Given the description of an element on the screen output the (x, y) to click on. 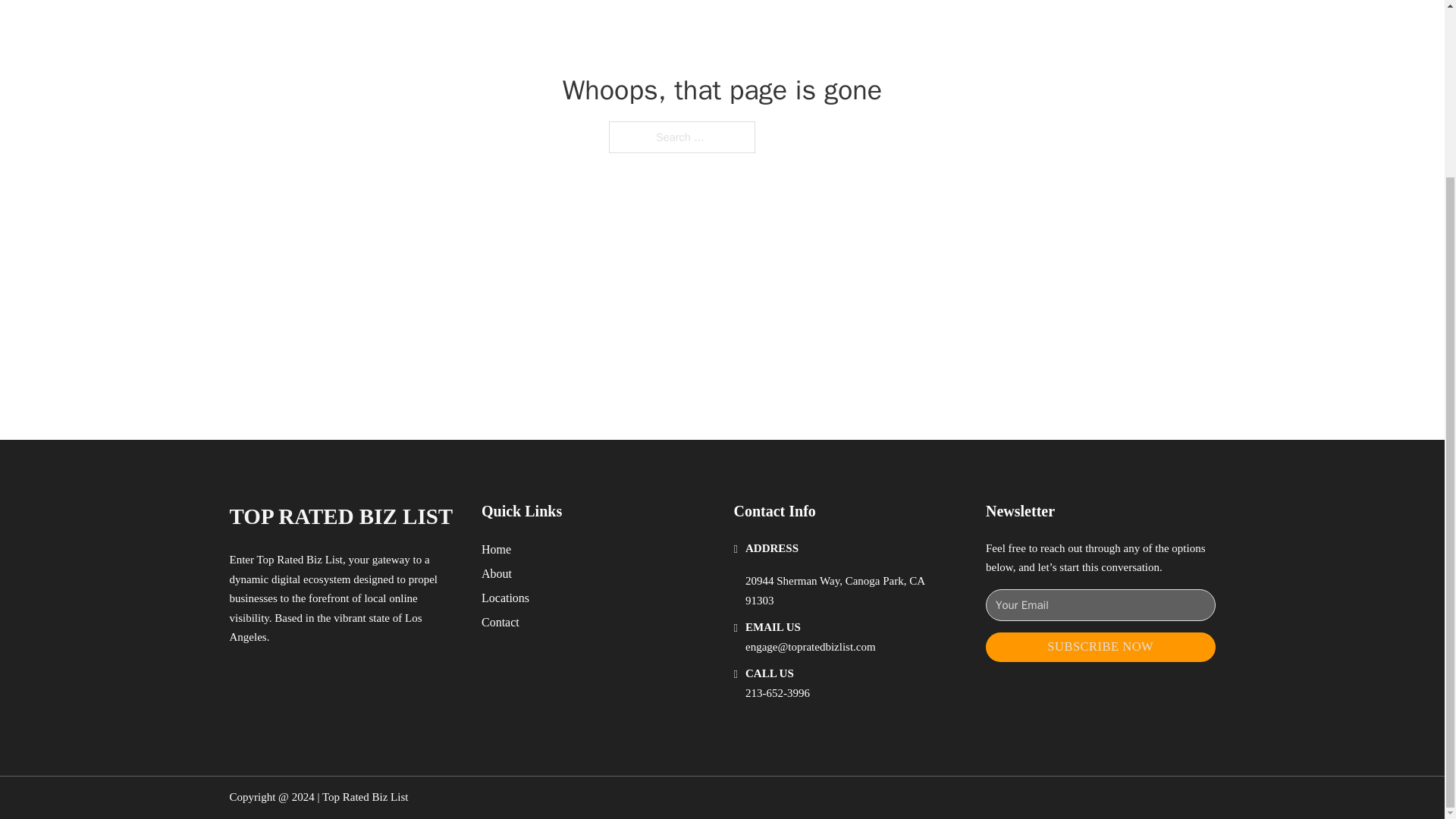
TOP RATED BIZ LIST (340, 516)
213-652-3996 (777, 693)
SUBSCRIBE NOW (1100, 646)
Contact (500, 621)
Locations (505, 598)
About (496, 573)
Home (496, 548)
